Given the description of an element on the screen output the (x, y) to click on. 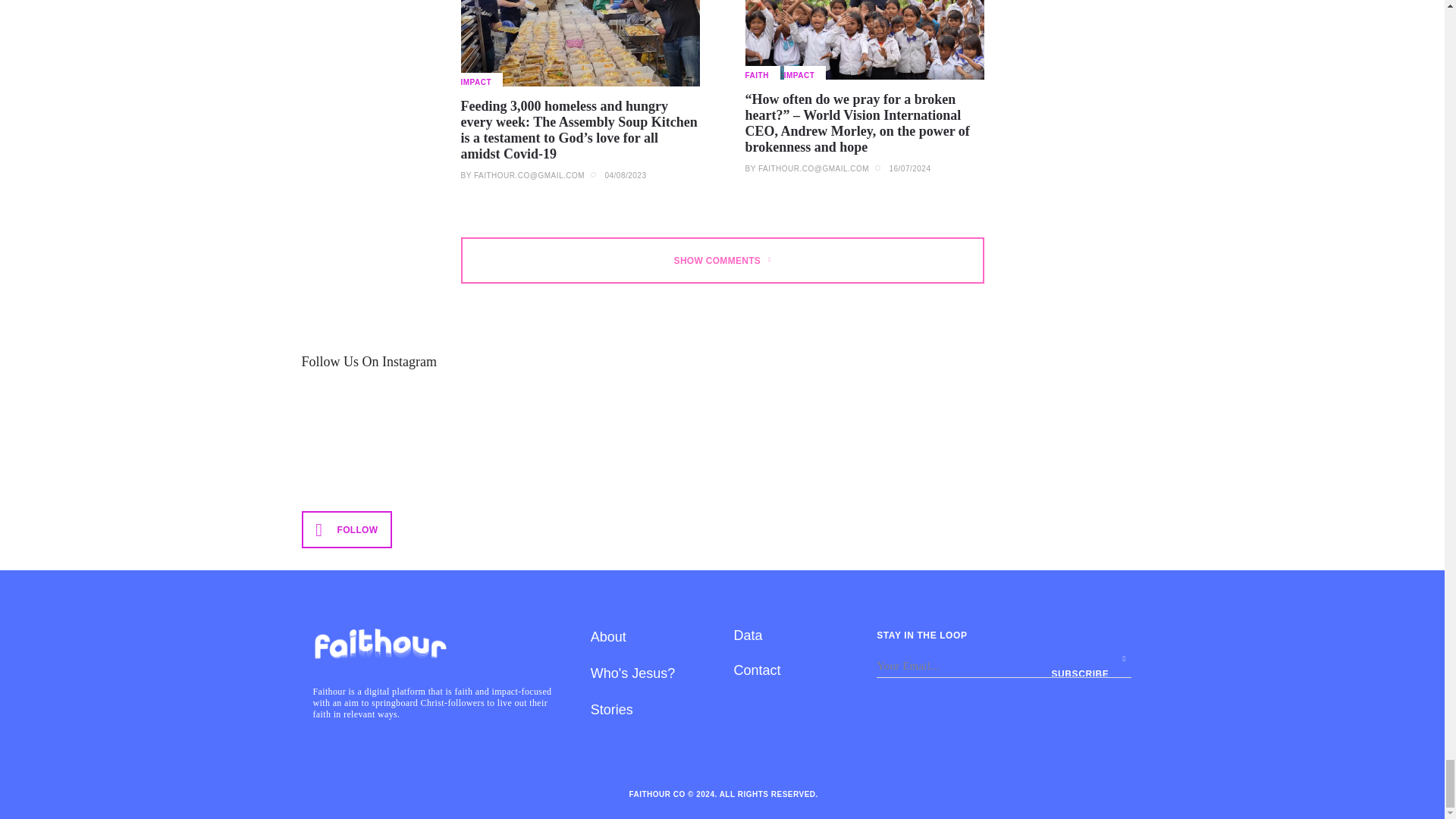
Subscribe (1091, 665)
